Given the description of an element on the screen output the (x, y) to click on. 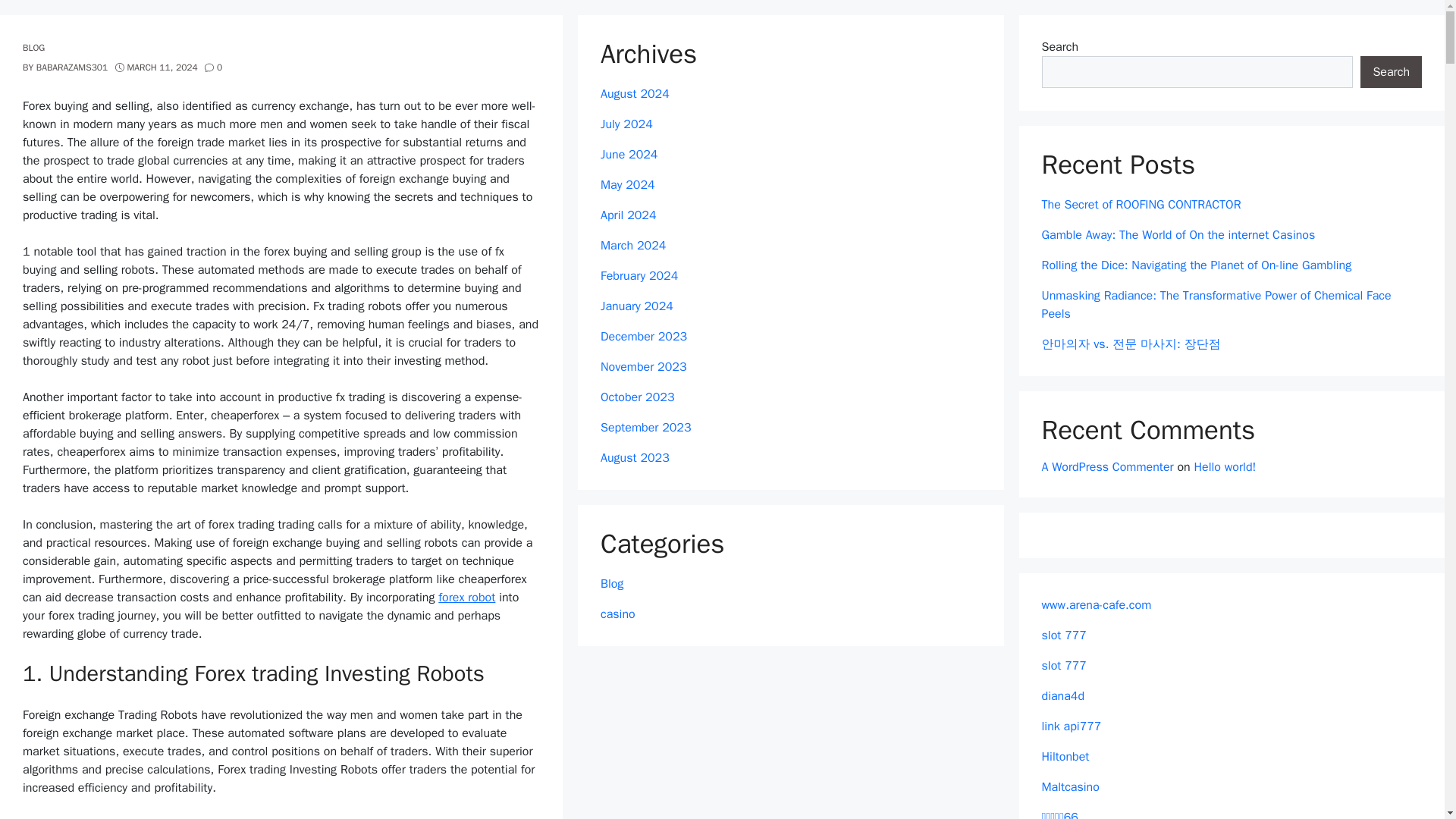
December 2023 (643, 336)
July 2024 (625, 124)
February 2024 (638, 275)
November 2023 (642, 366)
View all posts by babarazams301 (71, 67)
January 2024 (635, 305)
Rolling the Dice: Navigating the Planet of On-line Gambling (1197, 264)
August 2024 (634, 93)
September 2023 (645, 427)
April 2024 (627, 215)
BLOG (34, 47)
Search (1390, 71)
October 2023 (636, 396)
August 2023 (634, 458)
